Given the description of an element on the screen output the (x, y) to click on. 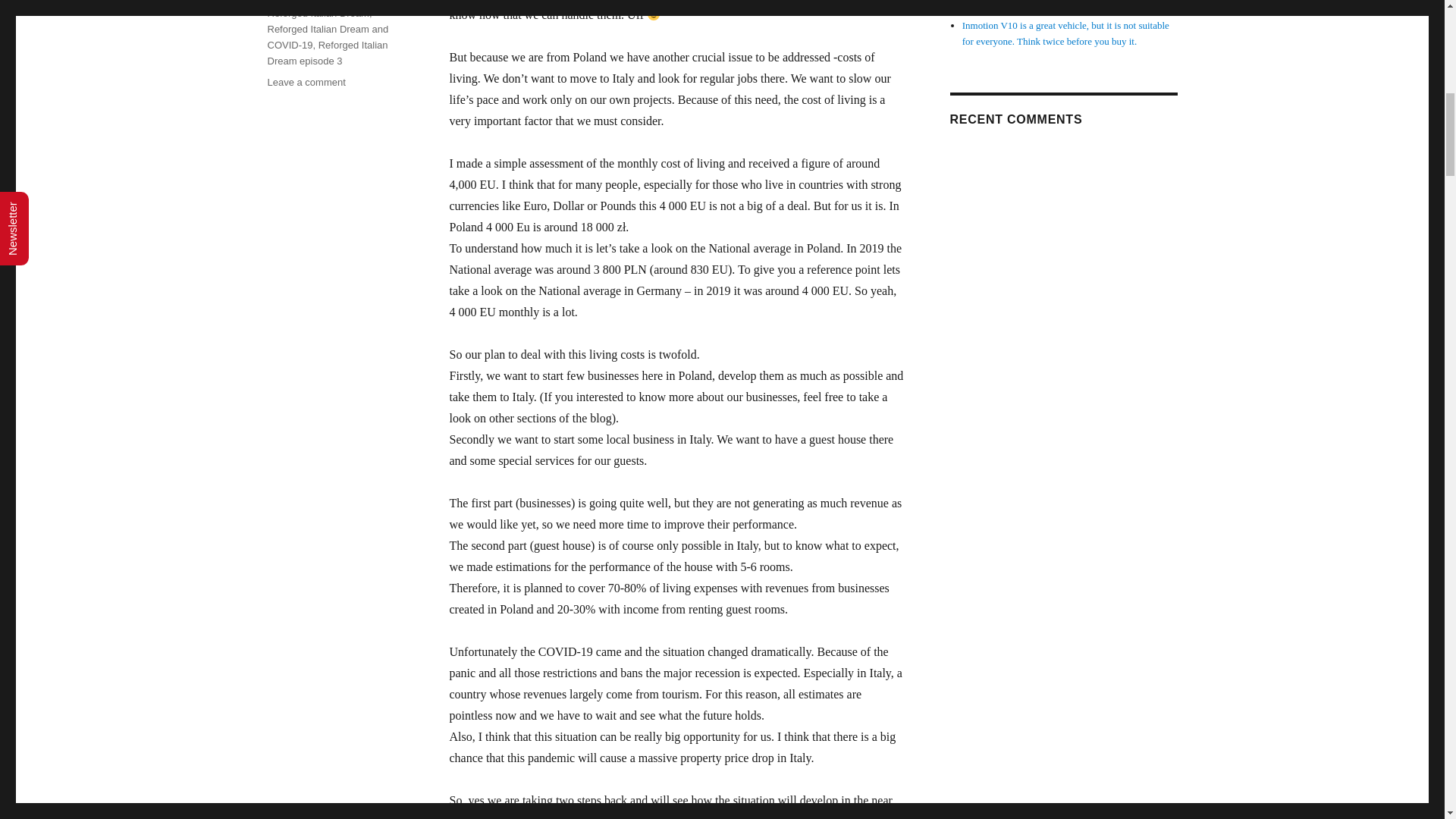
Reforged Italian Dream (317, 12)
Reforged Italian Dream and COVID-19 (327, 36)
Reforged Italian Dream episode 3 (326, 52)
